Given the description of an element on the screen output the (x, y) to click on. 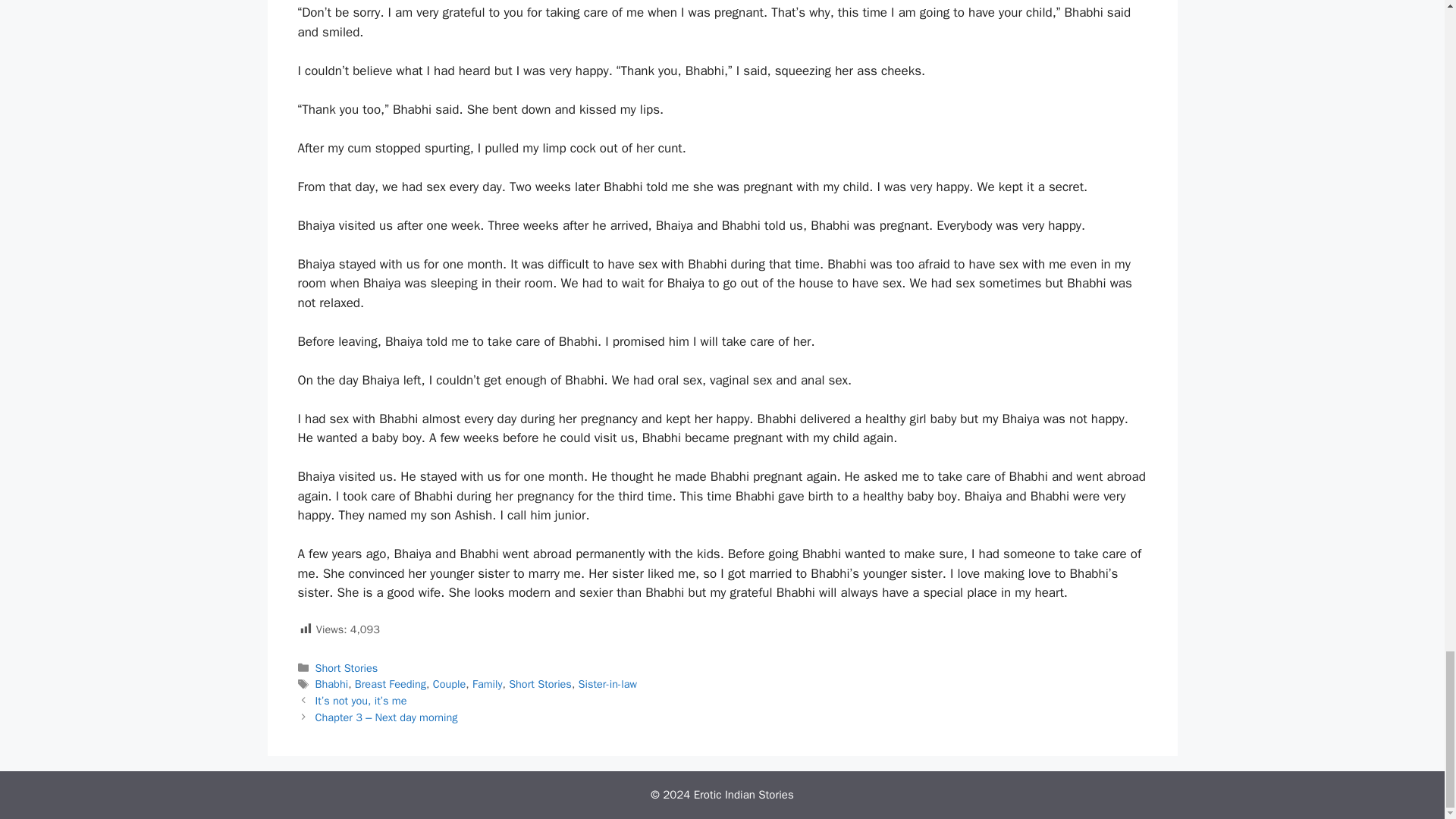
Breast Feeding (390, 684)
Short Stories (346, 667)
Sister-in-law (607, 684)
Short Stories (540, 684)
Bhabhi (332, 684)
Next (386, 716)
Couple (448, 684)
Family (486, 684)
Previous (361, 700)
